Given the description of an element on the screen output the (x, y) to click on. 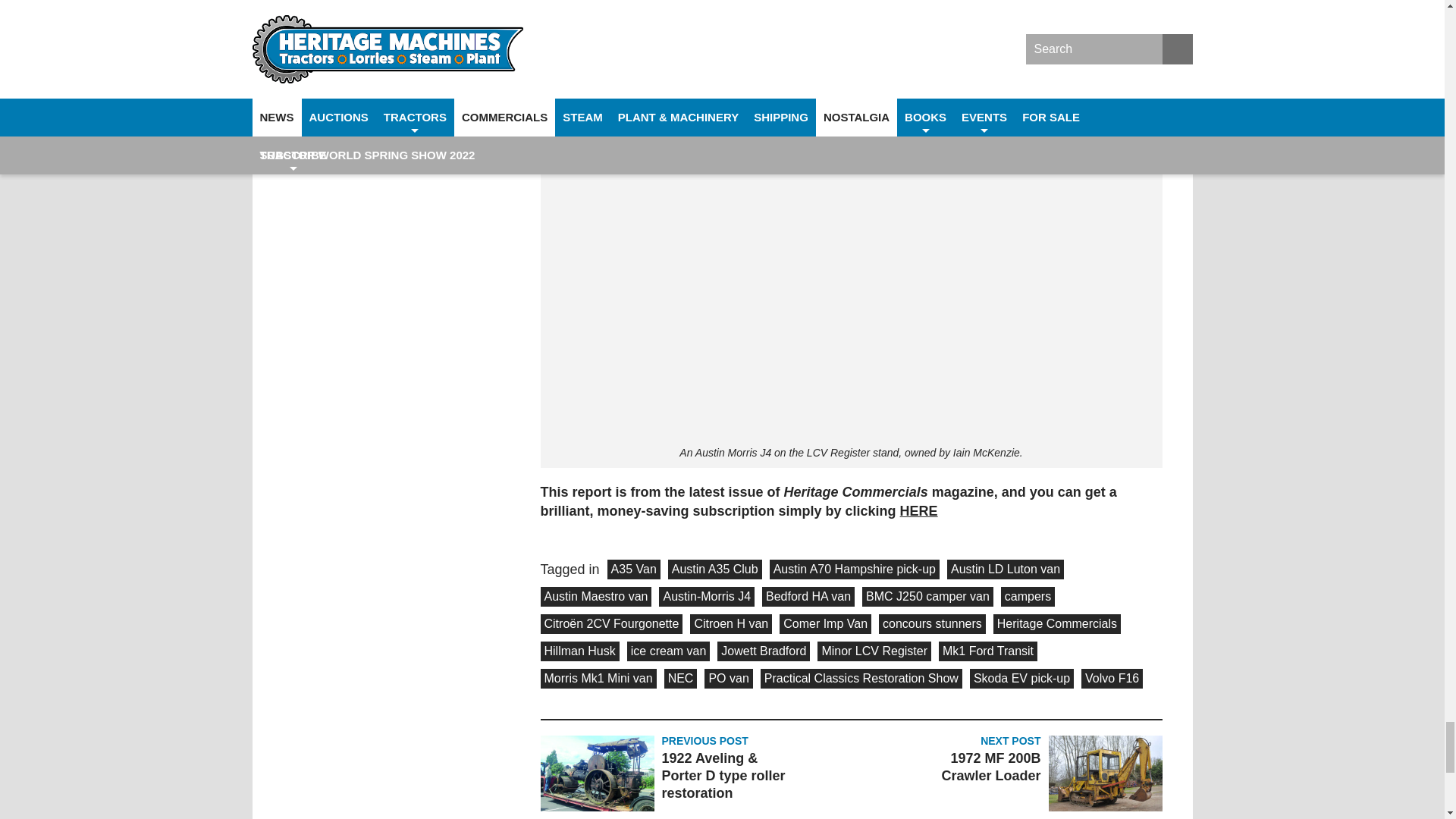
HERE (918, 510)
Austin A35 Club (714, 569)
A35 Van (634, 569)
Austin A70 Hampshire pick-up (854, 569)
Austin LD Luton van (1005, 569)
Austin Maestro van (595, 596)
